Given the description of an element on the screen output the (x, y) to click on. 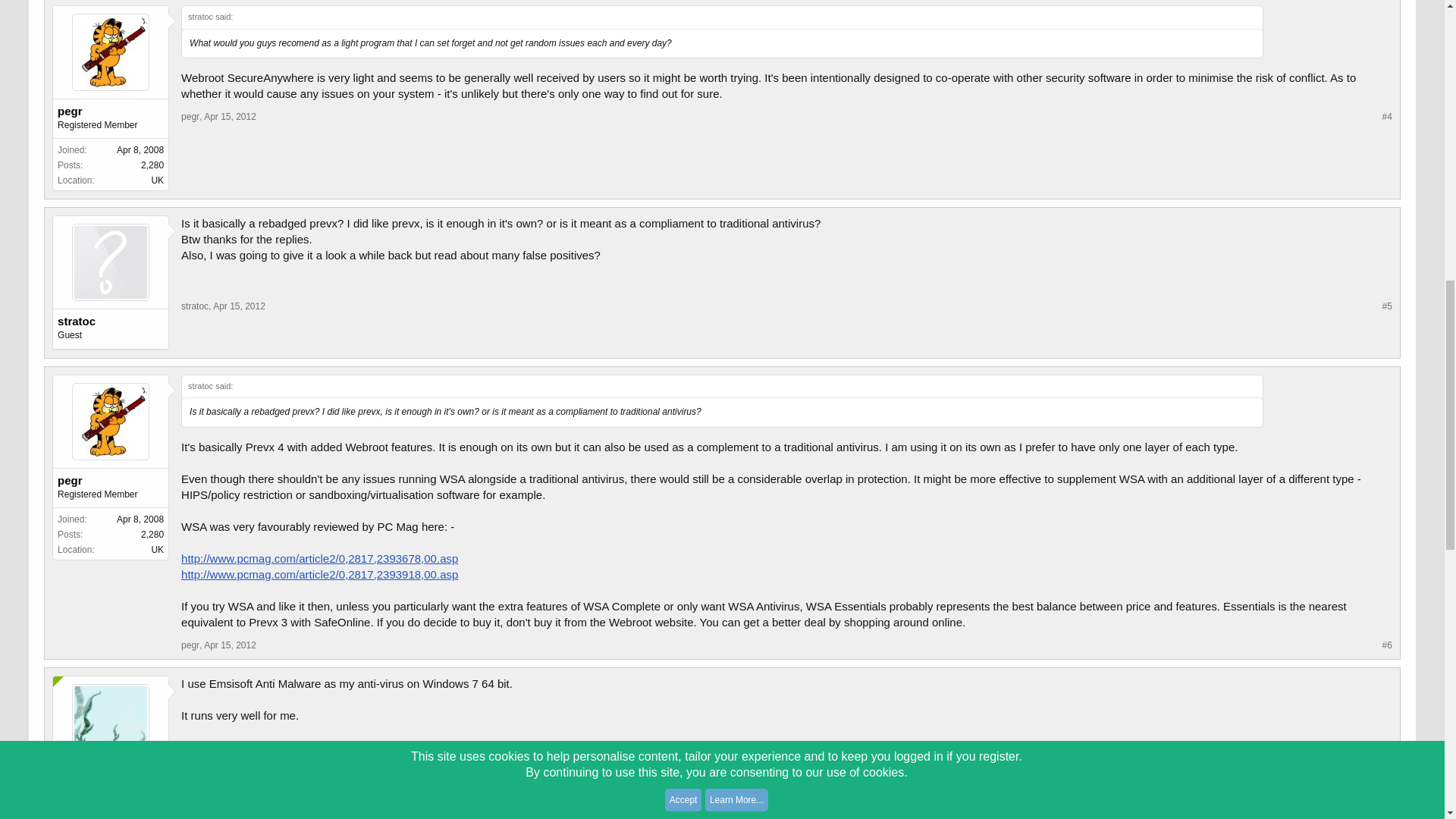
UK (157, 180)
Permalink (229, 116)
Permalink (1386, 306)
Permalink (1386, 116)
Apr 15, 2012 (238, 306)
pegr (189, 116)
2,280 (152, 164)
Apr 15, 2012 (229, 116)
pegr (110, 111)
Permalink (238, 306)
Permalink (229, 644)
stratoc (194, 306)
stratoc (110, 321)
